Given the description of an element on the screen output the (x, y) to click on. 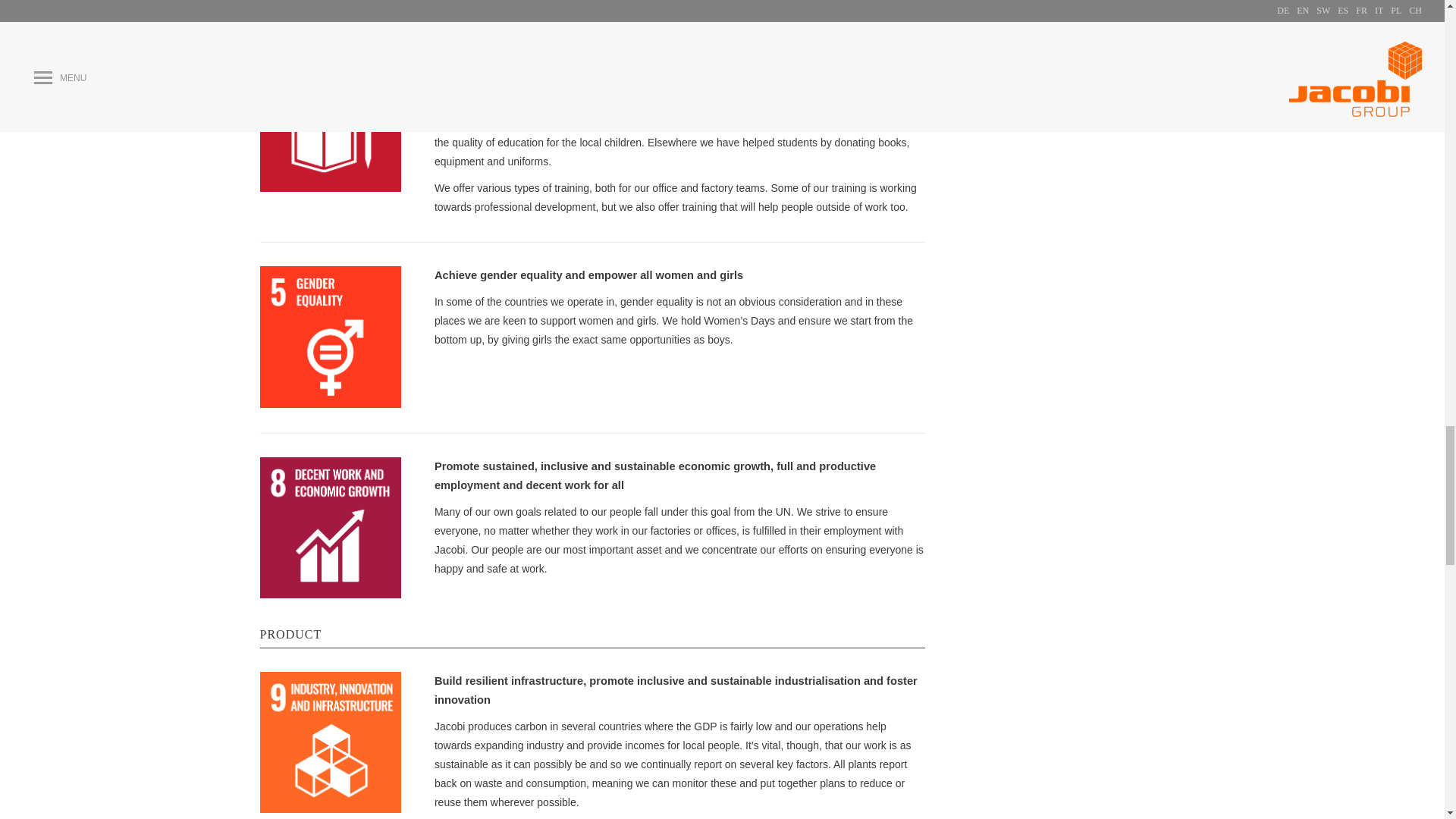
UN Sustainability Goal 5 (329, 336)
UN Sustainability Goal 4 (329, 119)
